Given the description of an element on the screen output the (x, y) to click on. 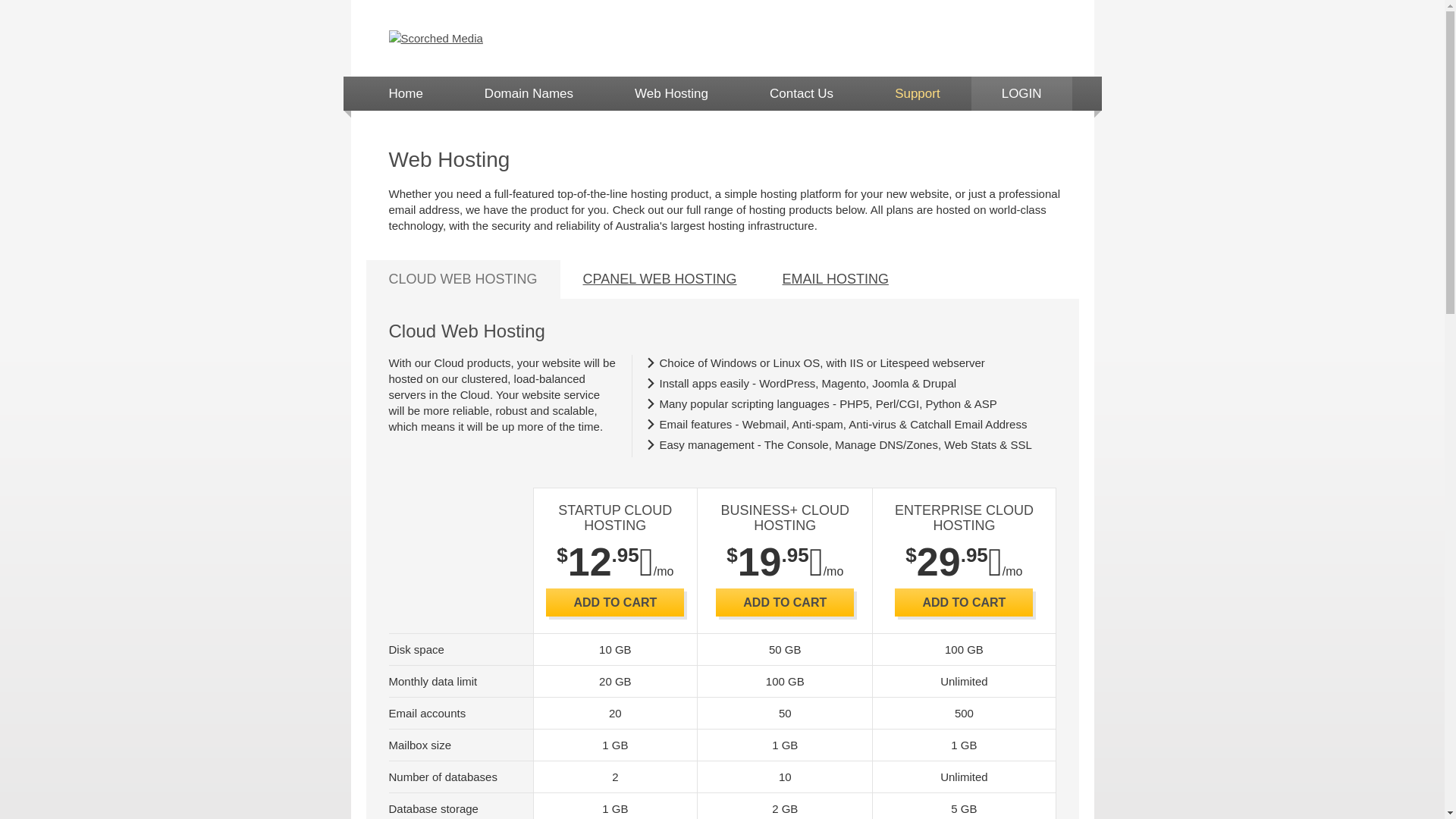
EMAIL HOSTING Element type: text (835, 278)
CPANEL WEB HOSTING Element type: text (660, 278)
ADD TO CART Element type: text (615, 602)
Contact Us Element type: text (801, 93)
ADD TO CART Element type: text (963, 602)
Domain Names Element type: text (528, 93)
Support Element type: text (917, 93)
ADD TO CART Element type: text (784, 602)
CLOUD WEB HOSTING Element type: text (462, 278)
Home Element type: text (404, 93)
Web Hosting Element type: text (671, 93)
LOGIN Element type: text (1021, 93)
